Given the description of an element on the screen output the (x, y) to click on. 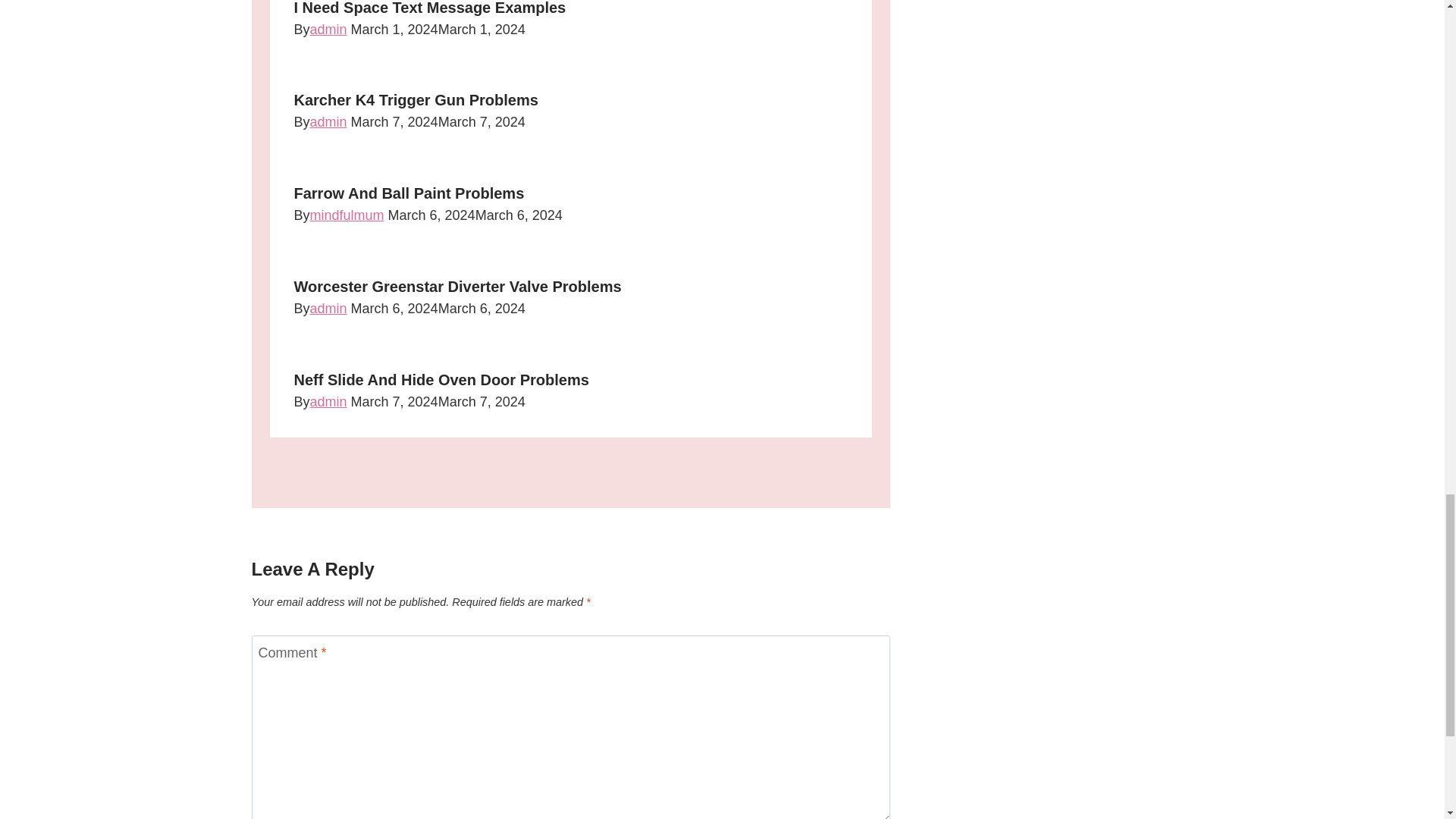
admin (328, 121)
admin (328, 29)
I Need Space Text Message Examples (430, 7)
Worcester Greenstar Diverter Valve Problems (457, 286)
Karcher K4 Trigger Gun Problems (416, 99)
mindfulmum (347, 215)
Neff Slide And Hide Oven Door Problems (441, 379)
Farrow And Ball Paint Problems (409, 193)
admin (328, 308)
